Given the description of an element on the screen output the (x, y) to click on. 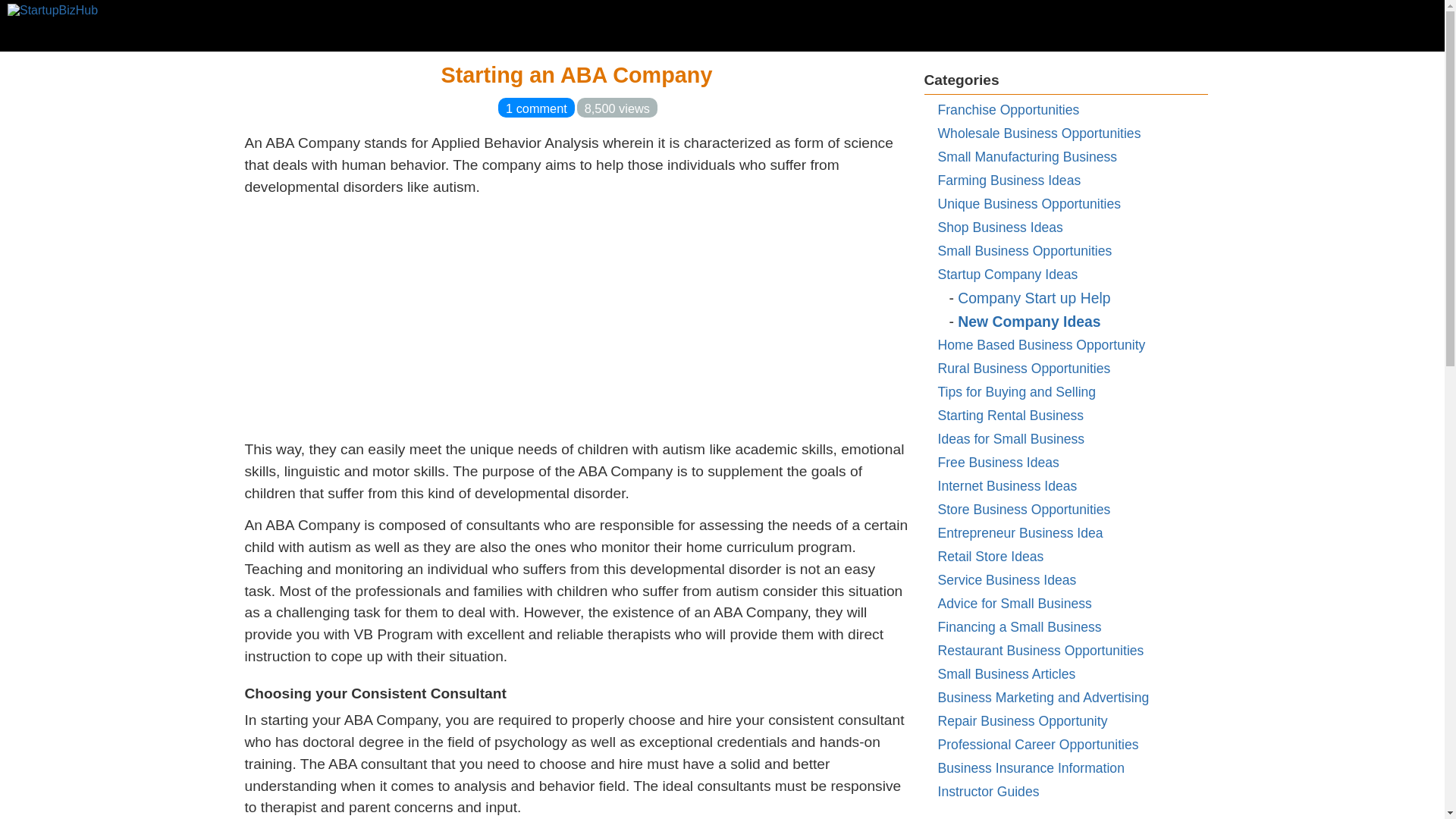
Service Business Ideas (1006, 580)
Small Business Opportunities (1024, 250)
Shop Business Ideas (999, 227)
Wholesale Business Opportunities (1038, 133)
Retail Store Ideas (990, 556)
Repair Business Opportunity (1021, 720)
Internet Business Ideas (1007, 485)
Unique Business Opportunities (1029, 203)
Franchise Opportunities (1007, 109)
Business Marketing and Advertising (1042, 697)
Entrepreneur Business Idea (1019, 532)
Business Insurance Information (1030, 767)
Restaurant Business Opportunities (1039, 650)
Advice for Small Business (1013, 603)
Startup Company Ideas (1007, 273)
